Given the description of an element on the screen output the (x, y) to click on. 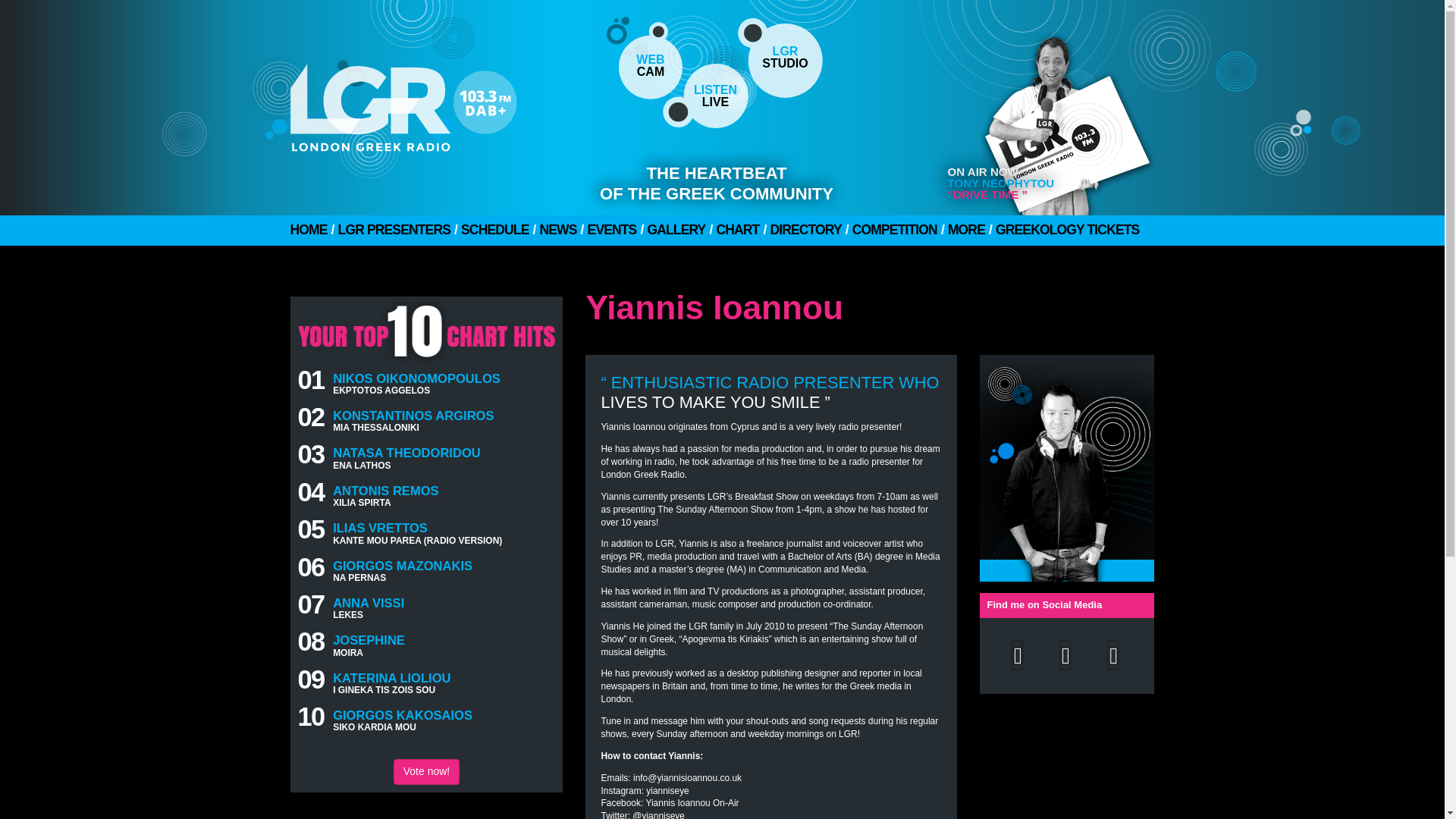
Go to the homepage. (440, 101)
Vote now! (705, 95)
HOME (426, 771)
TONY NEOPHYTOU (307, 230)
